Given the description of an element on the screen output the (x, y) to click on. 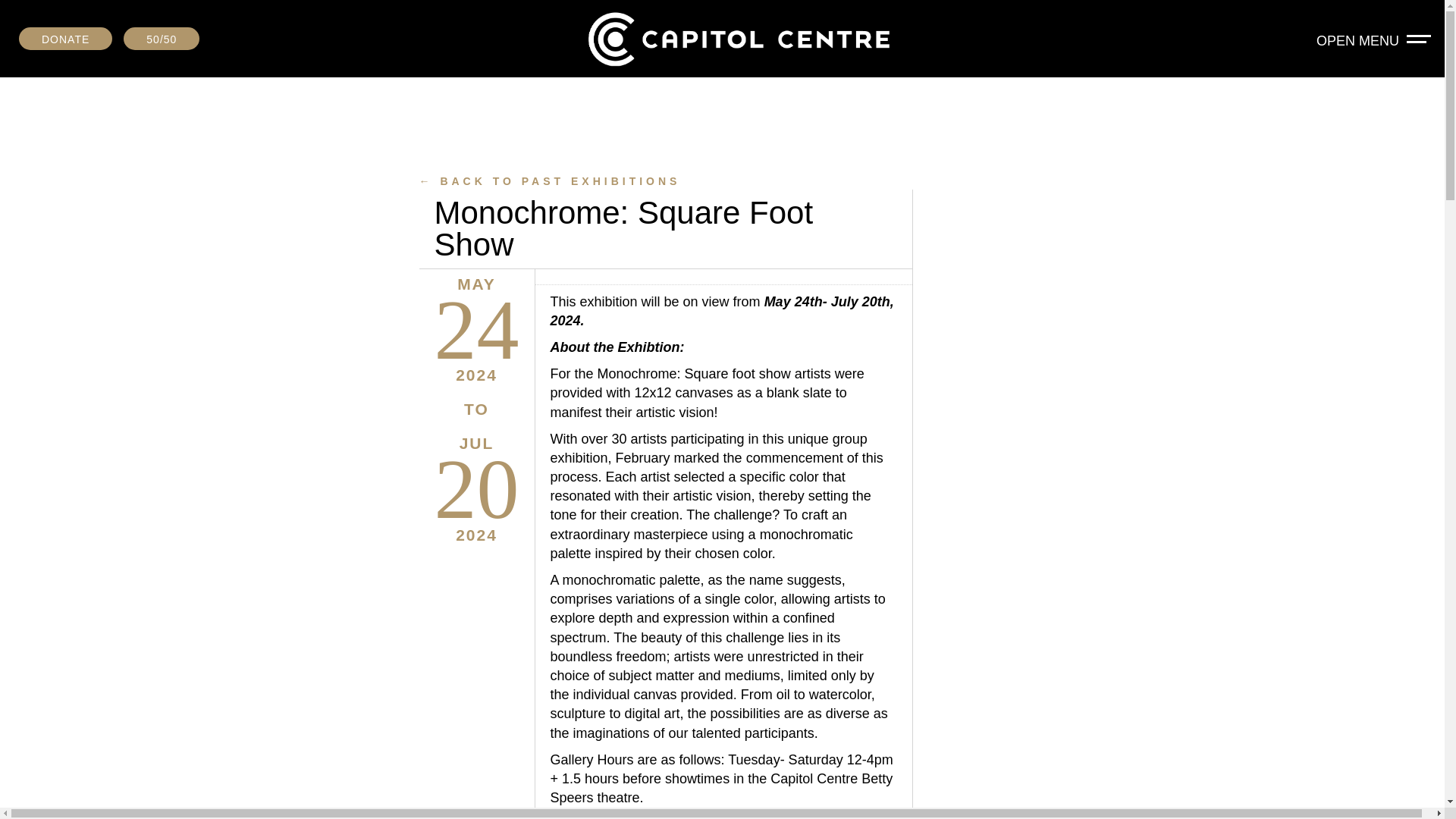
DONATE (65, 38)
